Given the description of an element on the screen output the (x, y) to click on. 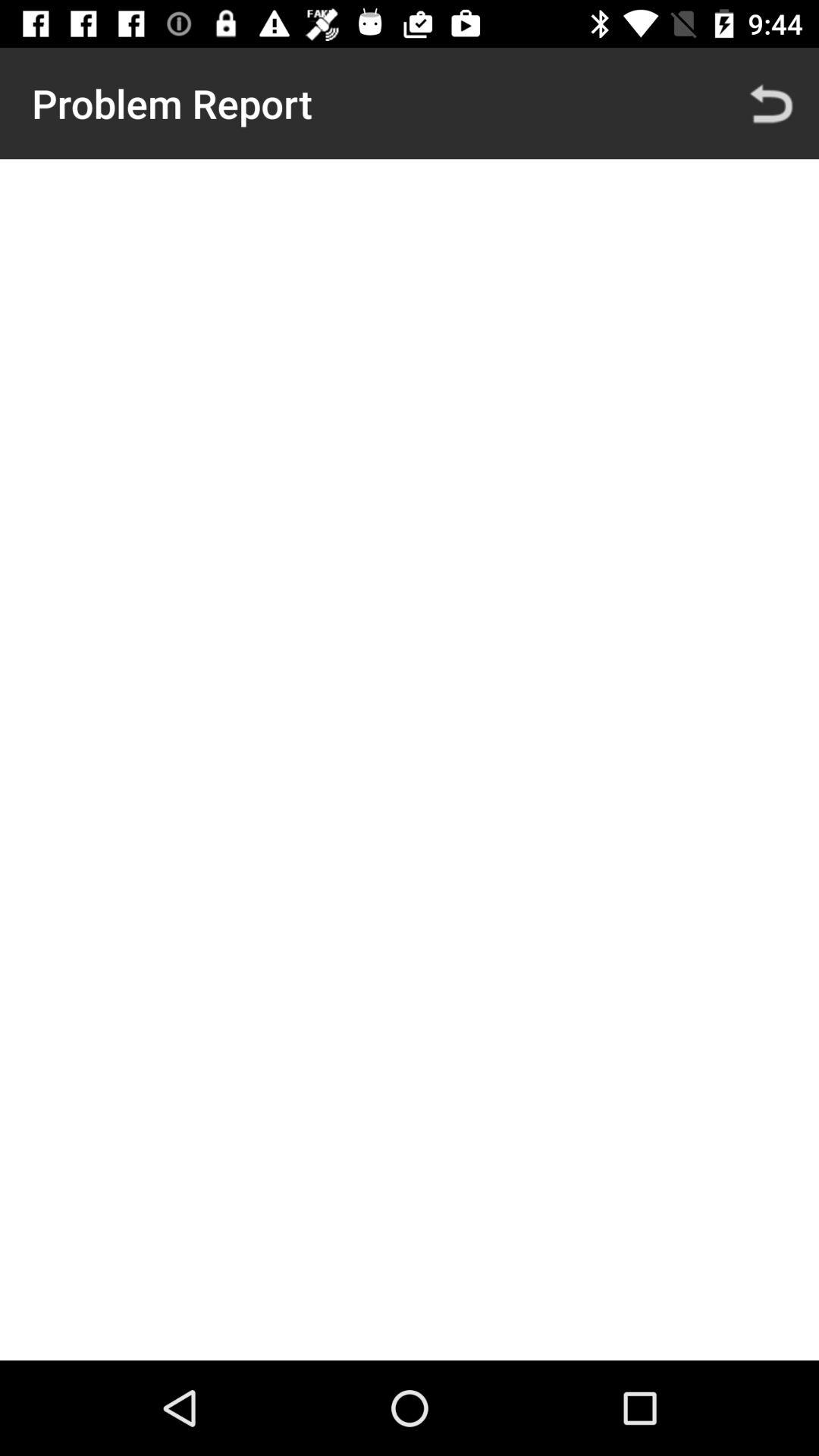
select icon next to problem report app (771, 103)
